Given the description of an element on the screen output the (x, y) to click on. 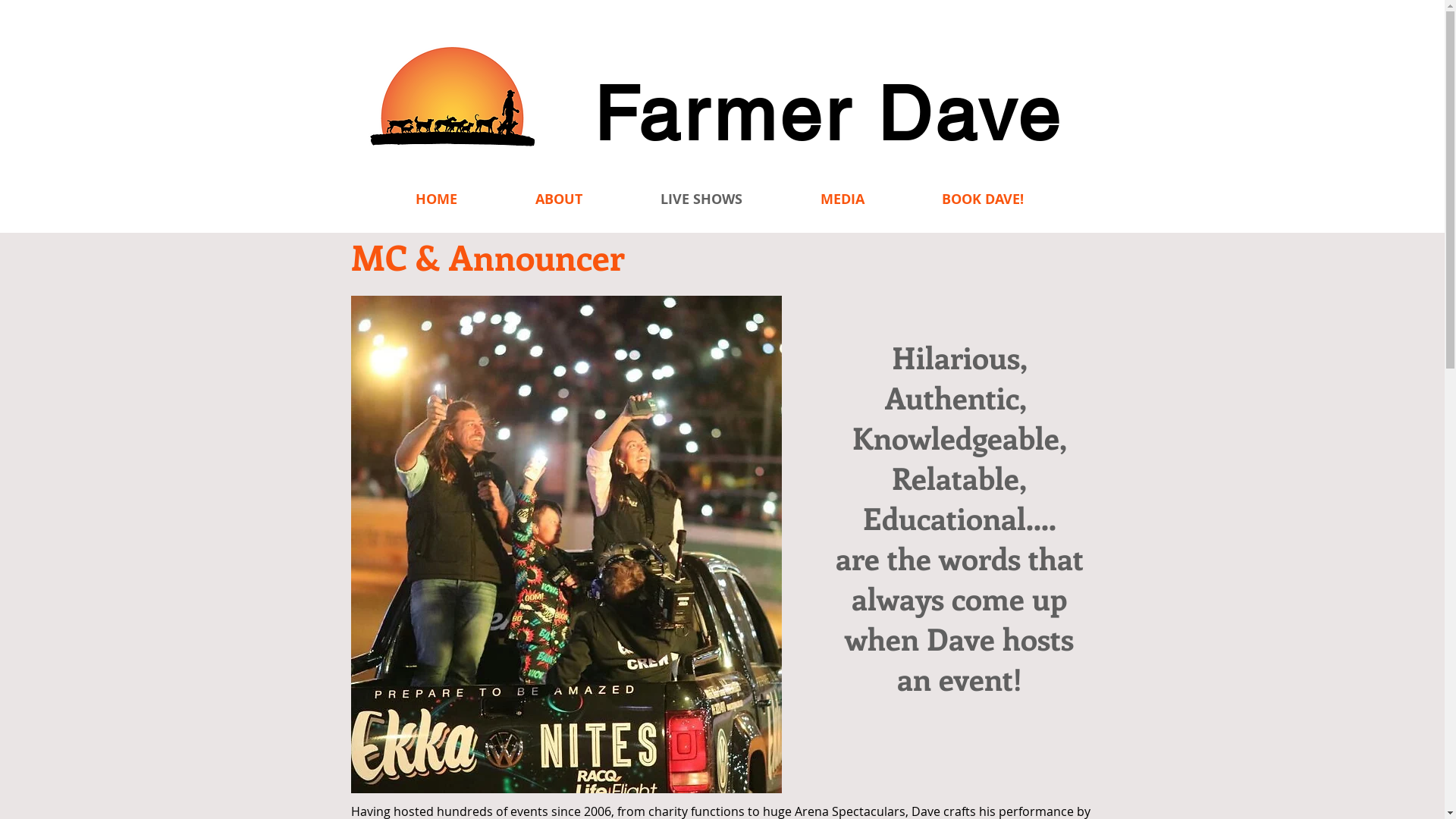
BOOK DAVE! Element type: text (981, 199)
LIVE SHOWS Element type: text (701, 199)
HOME Element type: text (435, 199)
ABOUT Element type: text (558, 199)
MEDIA Element type: text (841, 199)
